Given the description of an element on the screen output the (x, y) to click on. 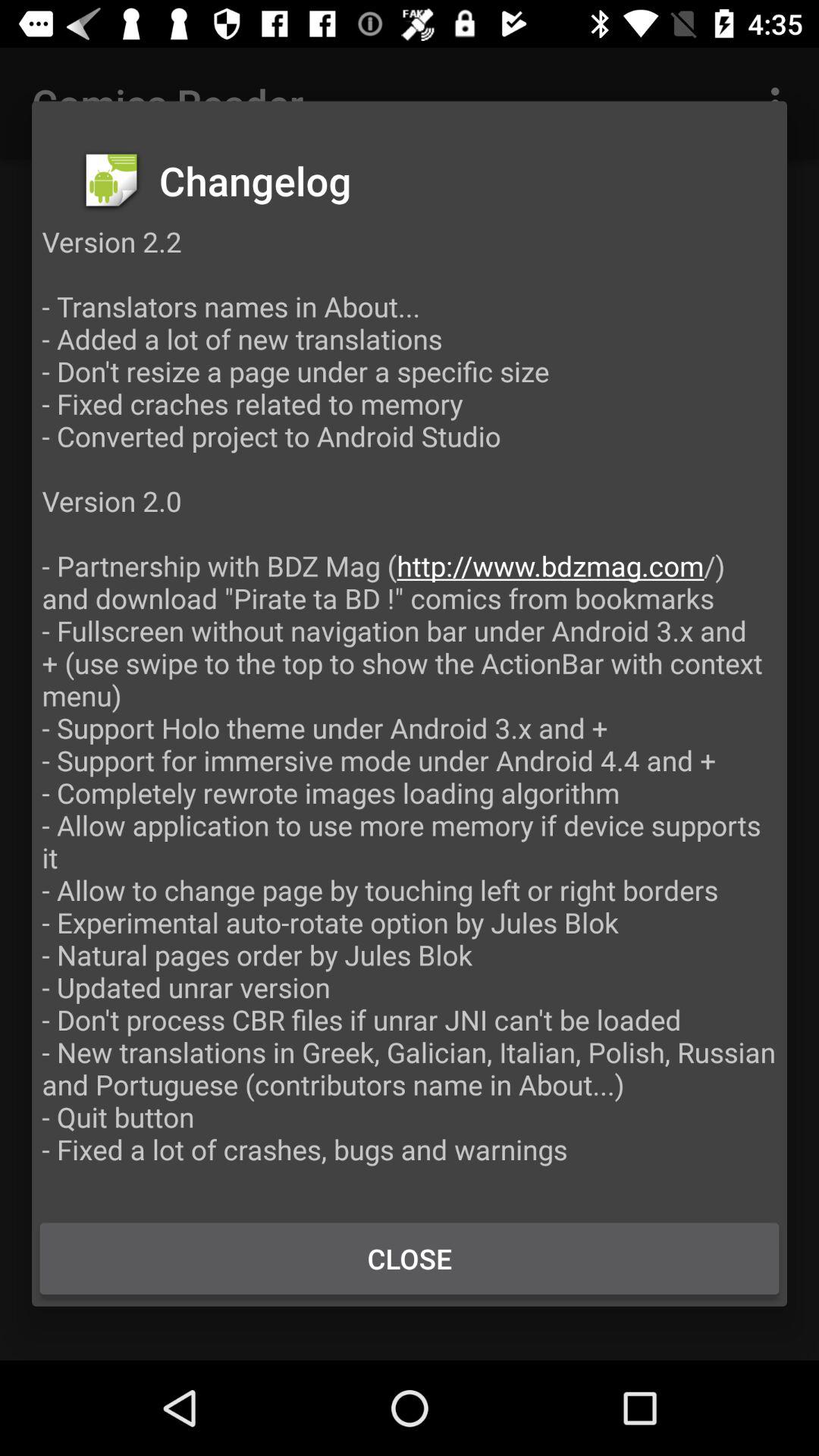
press item below version 2 2 (409, 1258)
